Given the description of an element on the screen output the (x, y) to click on. 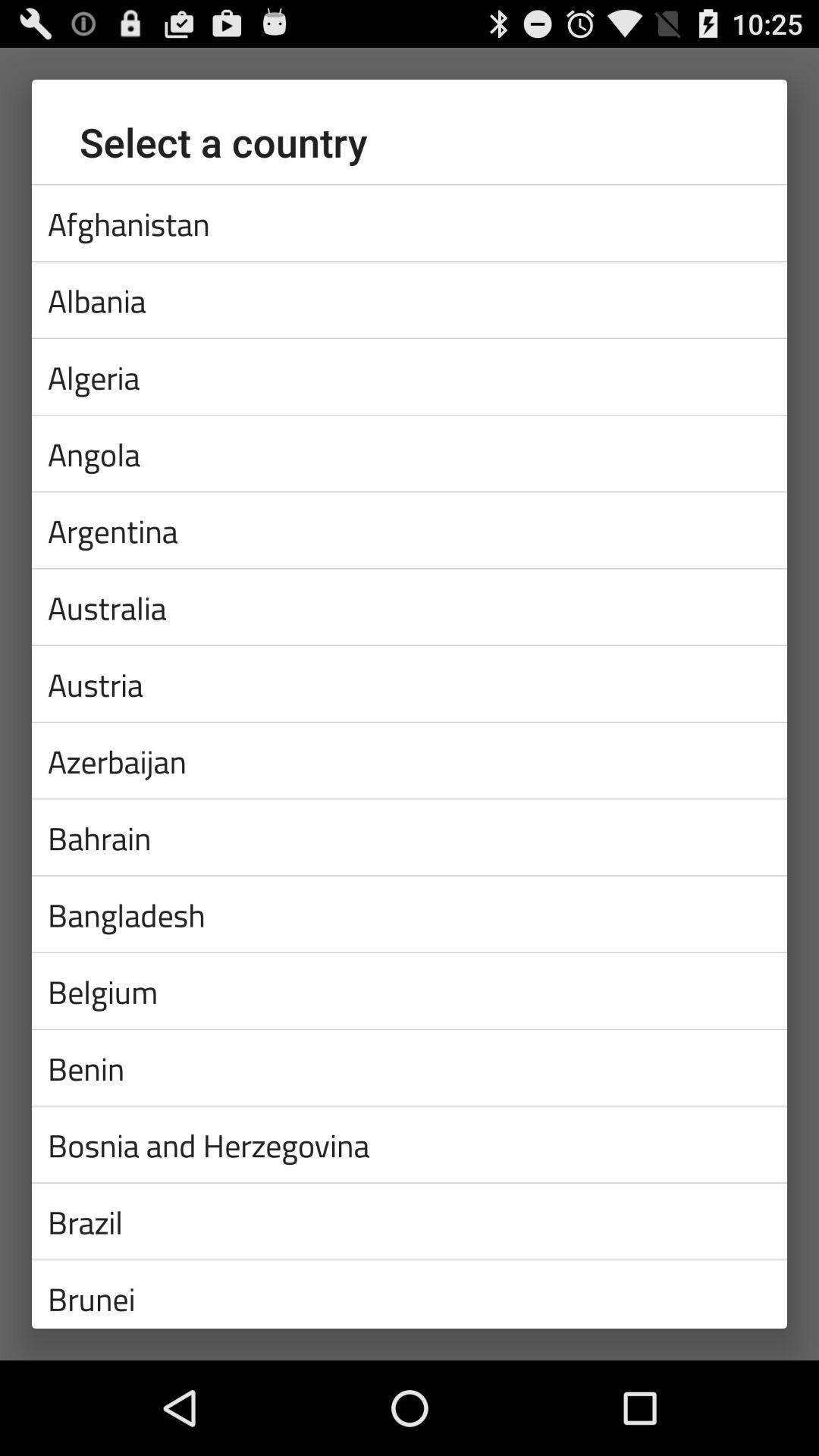
turn off afghanistan (409, 223)
